Given the description of an element on the screen output the (x, y) to click on. 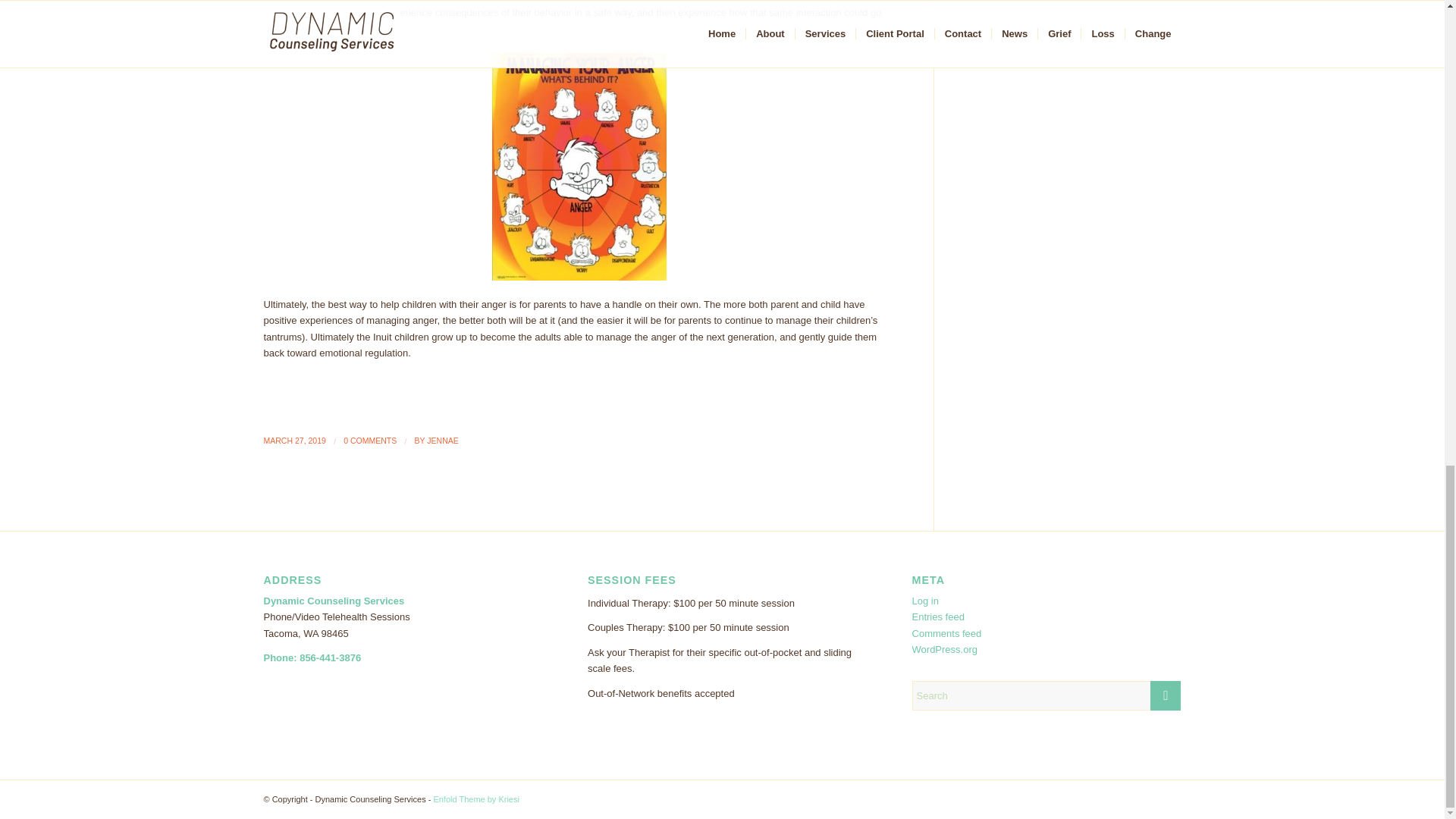
JENNAE (442, 440)
0 COMMENTS (369, 440)
Posts by Jennae (442, 440)
